Given the description of an element on the screen output the (x, y) to click on. 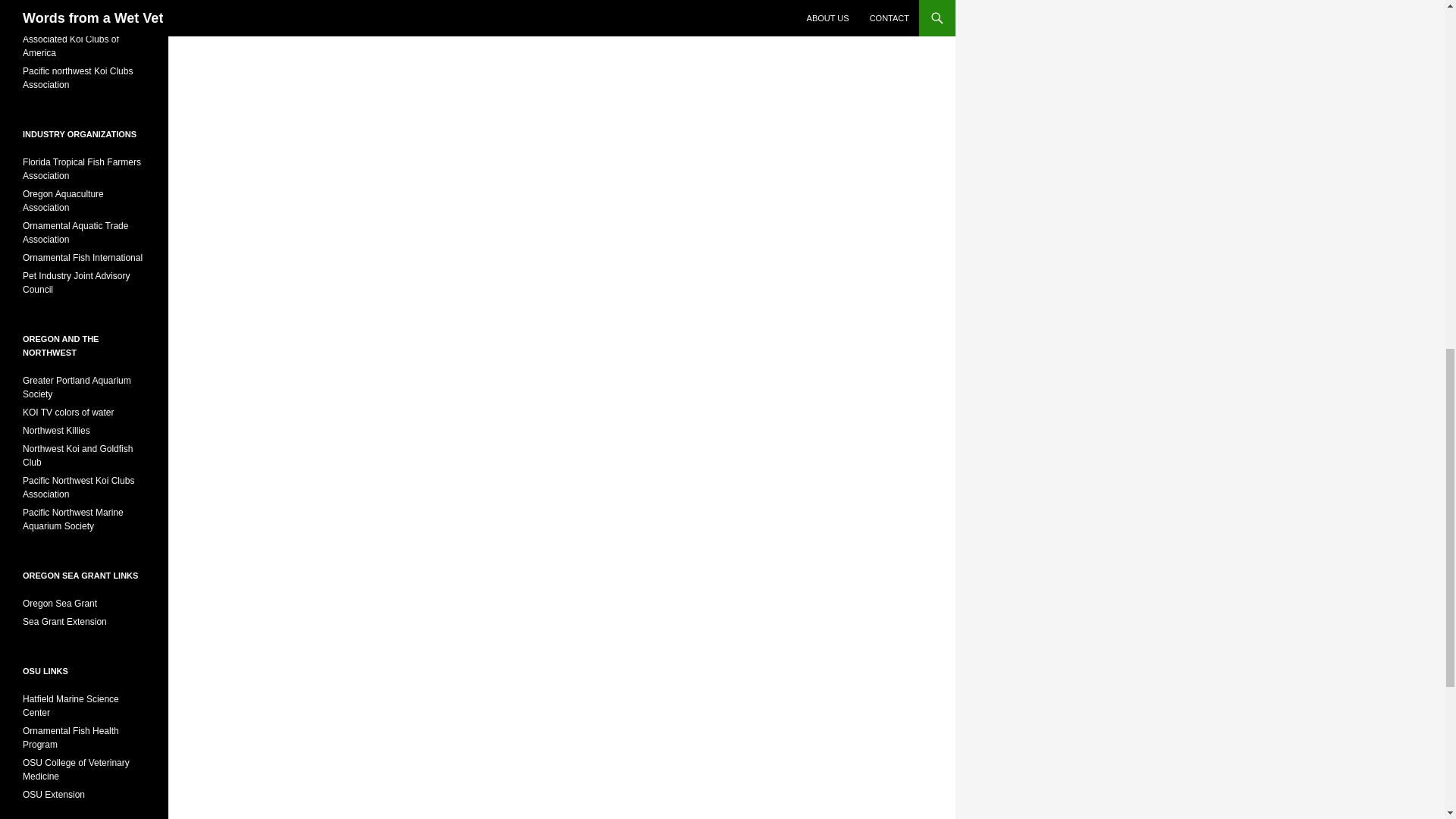
Newport, Oregon (71, 705)
Subscribe to this blog (794, 2)
